Given the description of an element on the screen output the (x, y) to click on. 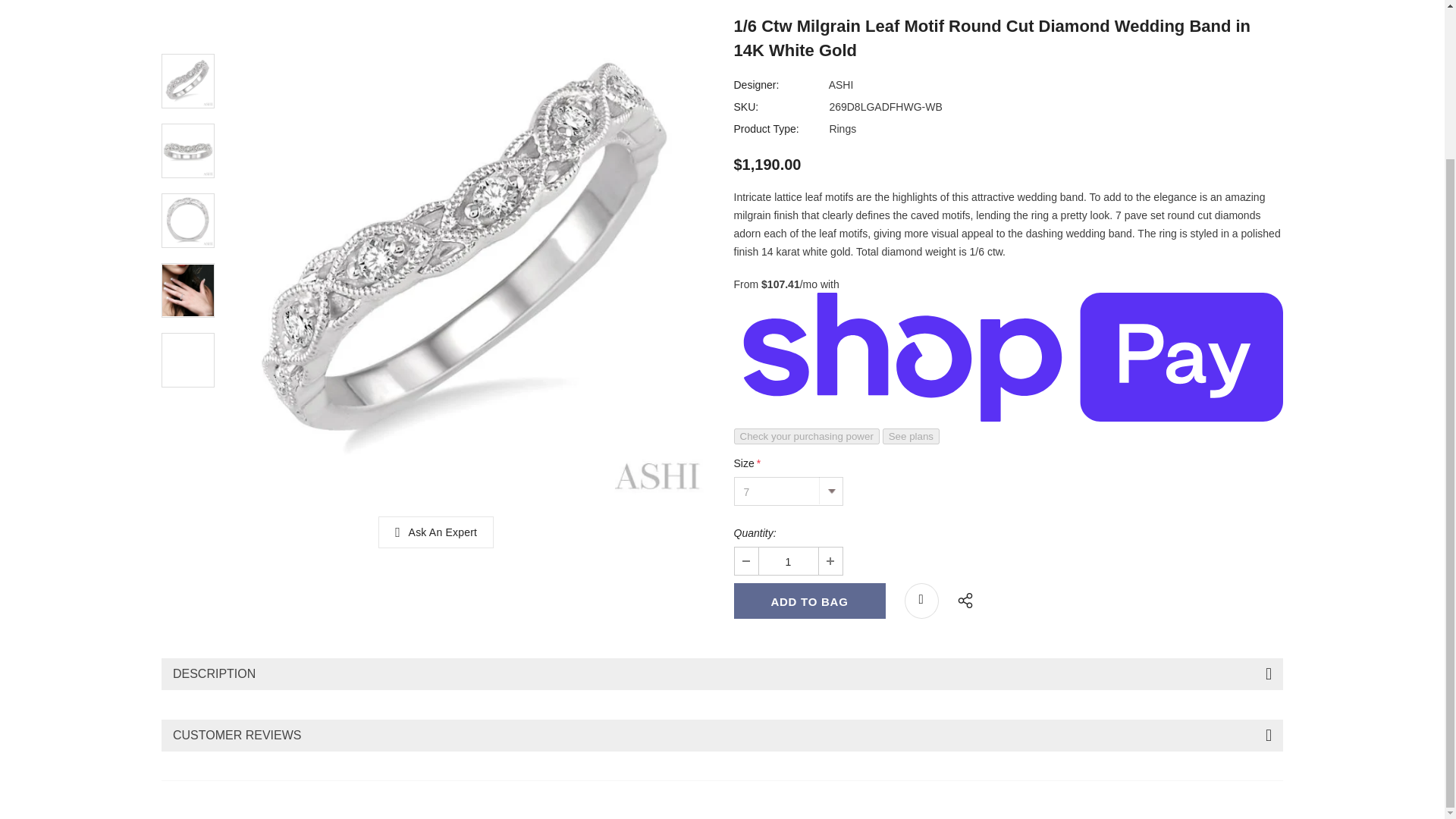
1 (787, 560)
Add to Bag (809, 601)
